Given the description of an element on the screen output the (x, y) to click on. 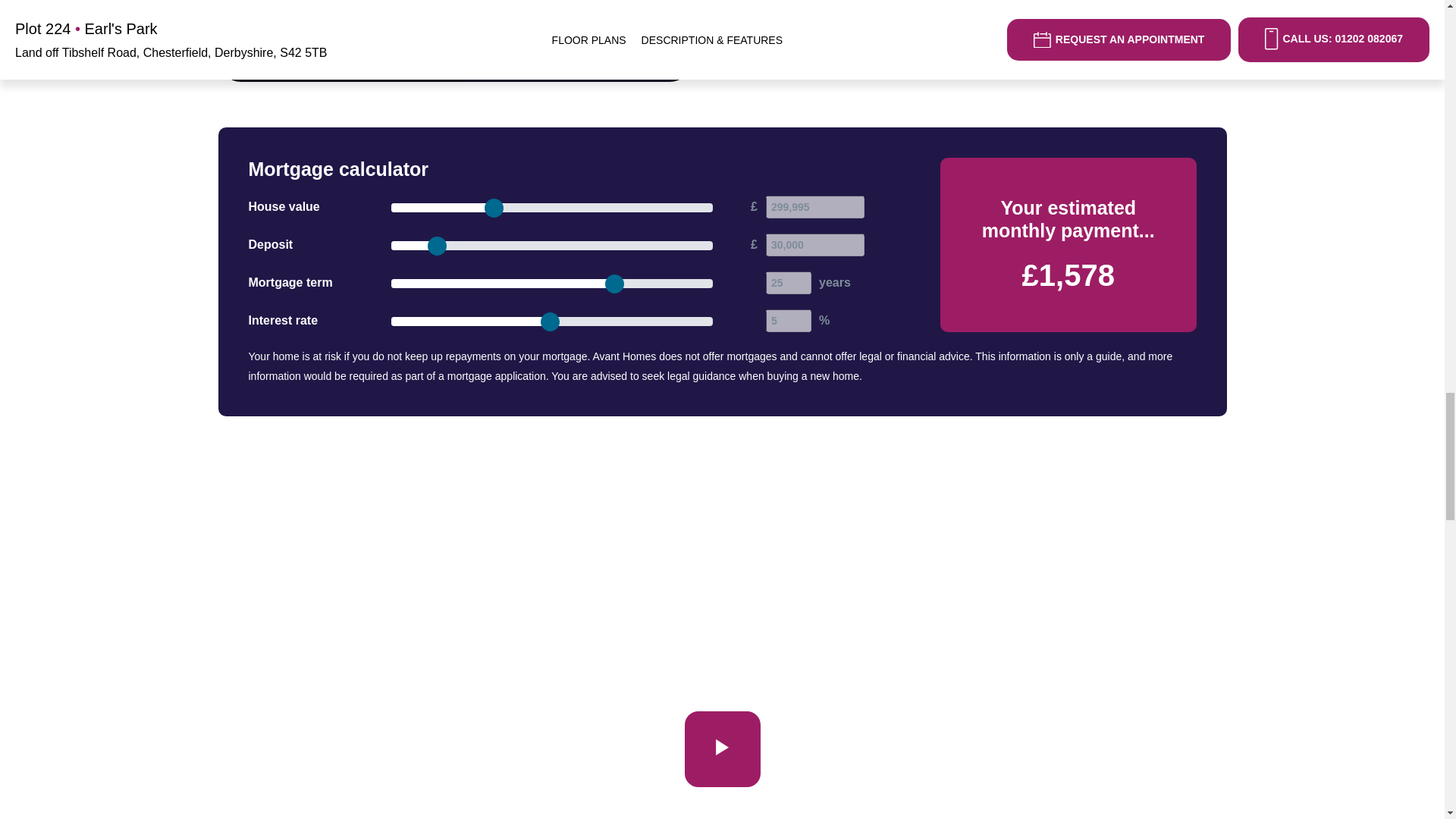
299,995 (814, 206)
5 (787, 320)
25 (787, 282)
30,000 (814, 244)
